Given the description of an element on the screen output the (x, y) to click on. 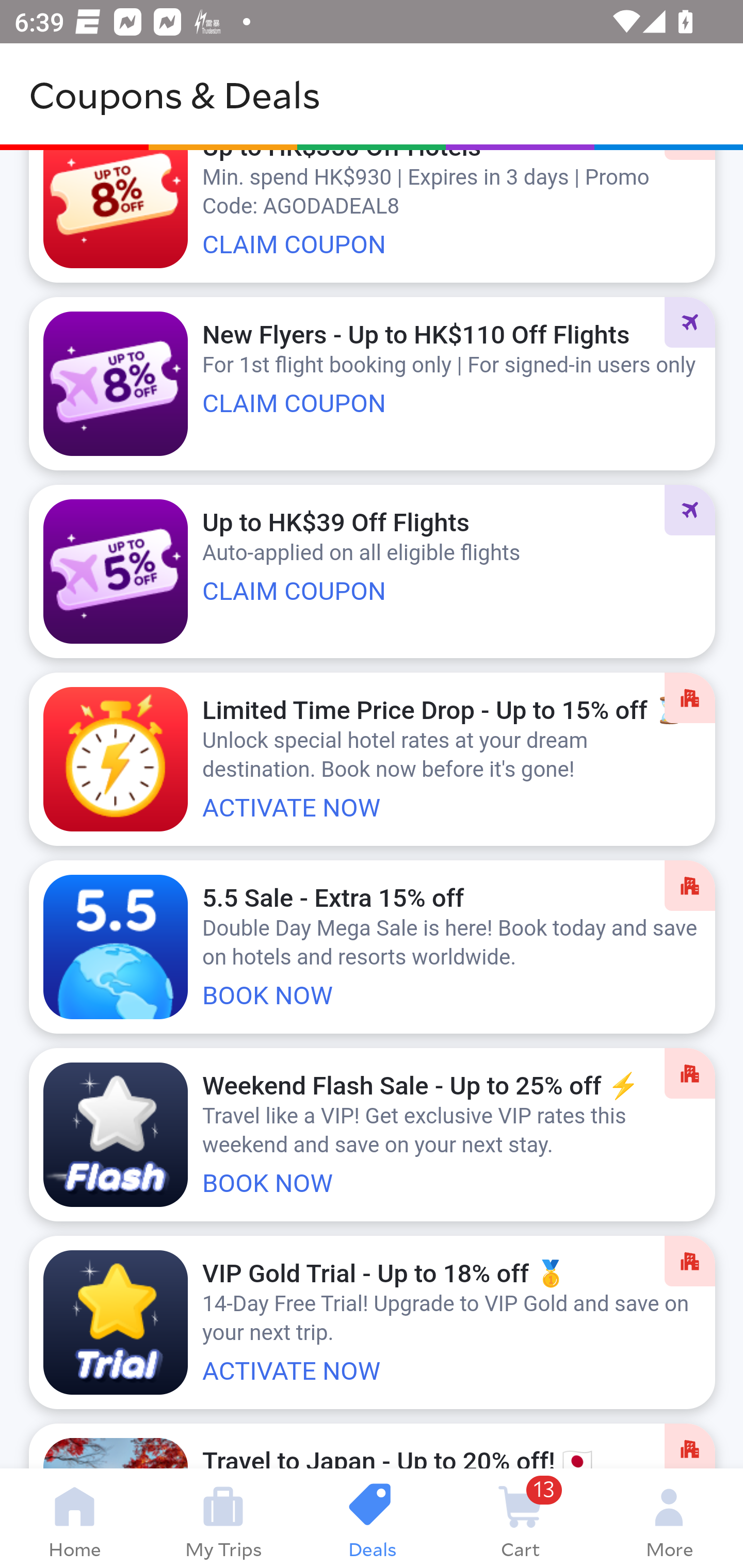
Home (74, 1518)
My Trips (222, 1518)
Deals (371, 1518)
13 Cart (519, 1518)
More (668, 1518)
